Given the description of an element on the screen output the (x, y) to click on. 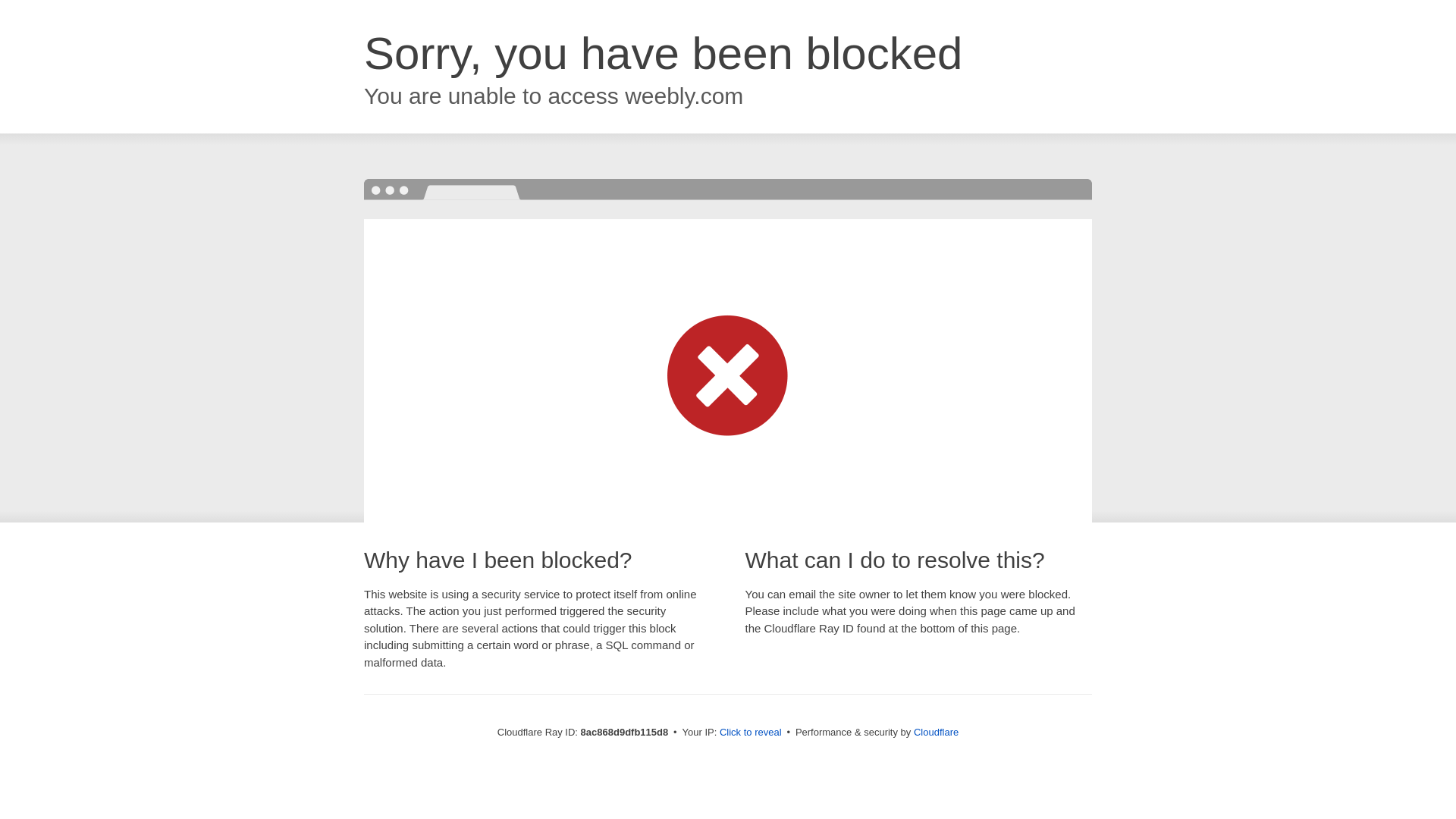
Click to reveal (750, 732)
Cloudflare (936, 731)
